Given the description of an element on the screen output the (x, y) to click on. 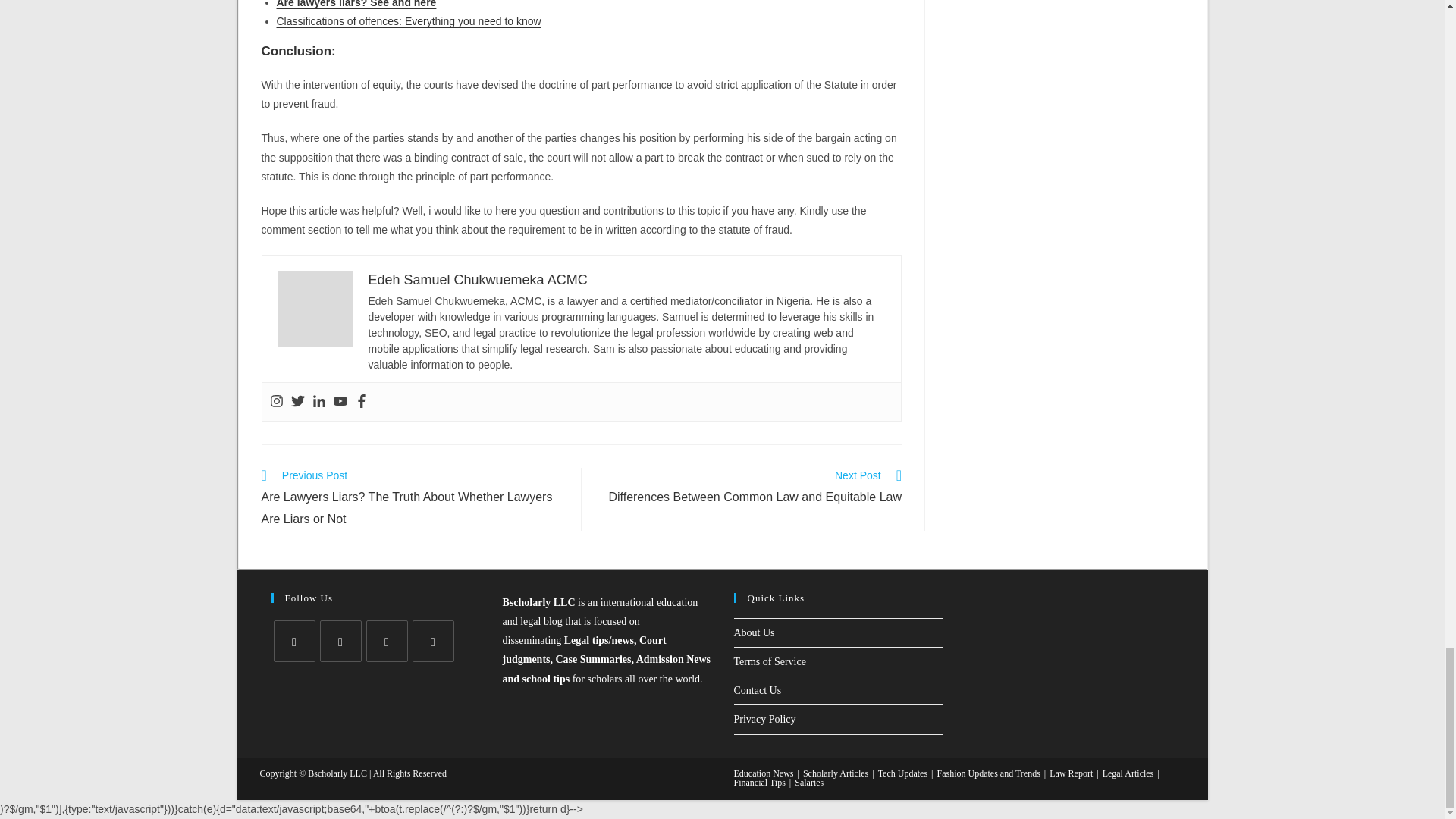
Linkedin (319, 401)
Twitter (297, 401)
Youtube (340, 401)
Classifications of offences: Everything you need to know (408, 21)
Instagram (276, 401)
Facebook (361, 401)
Are lawyers liars? See and here (355, 4)
